Given the description of an element on the screen output the (x, y) to click on. 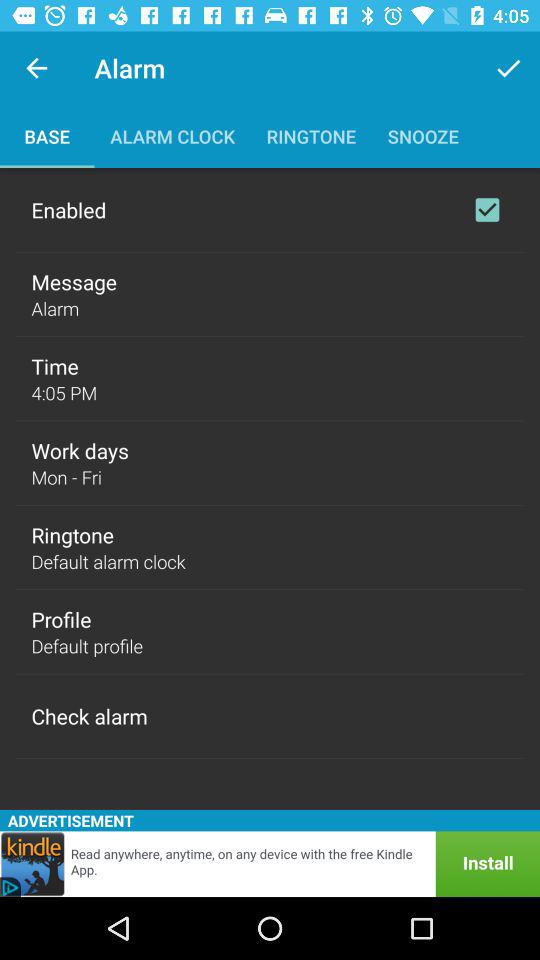
toggle enable option (487, 210)
